Given the description of an element on the screen output the (x, y) to click on. 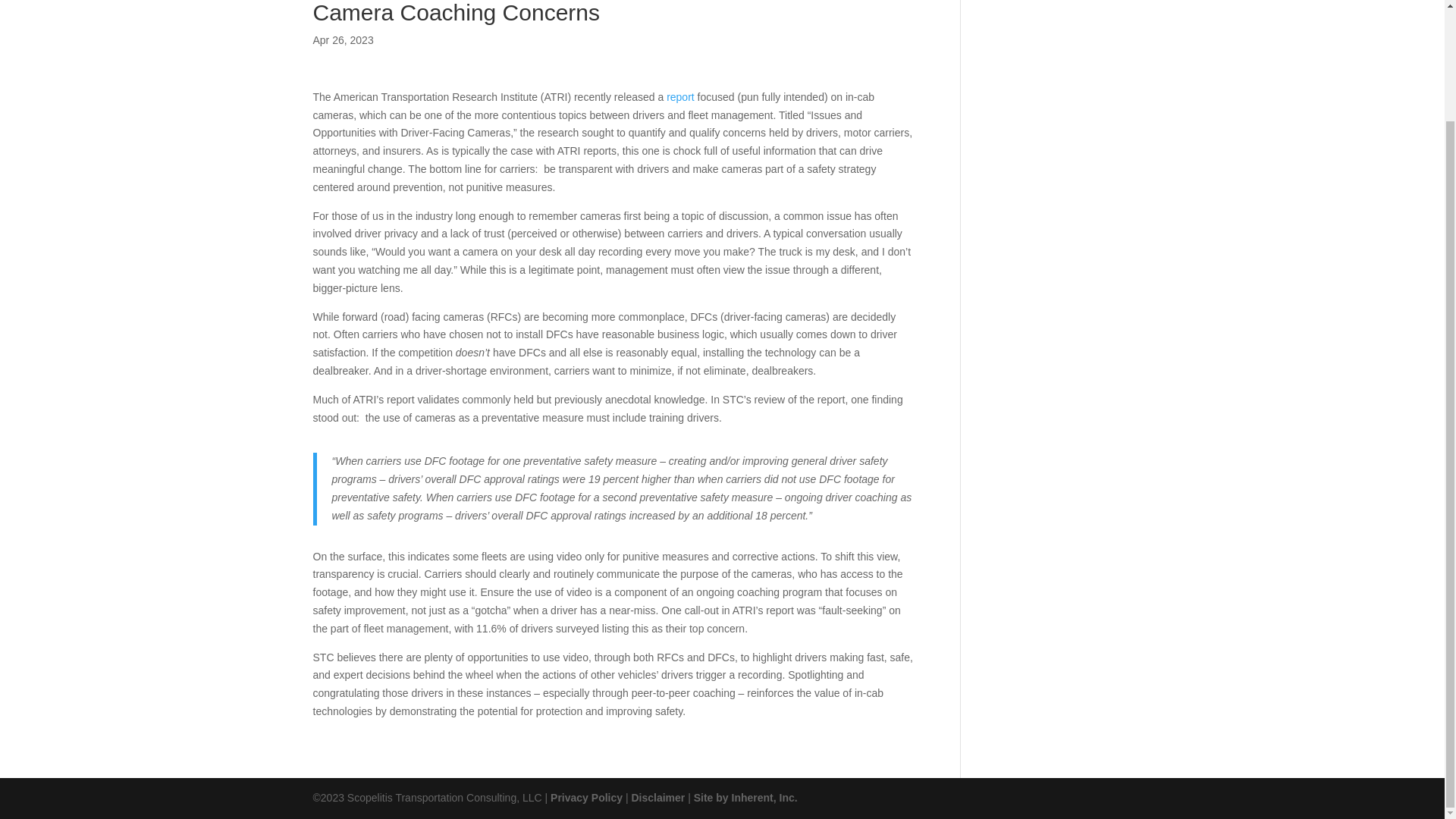
report (680, 96)
Site by Inherent, Inc. (745, 797)
Disclaimer (657, 797)
Privacy Policy (586, 797)
